Given the description of an element on the screen output the (x, y) to click on. 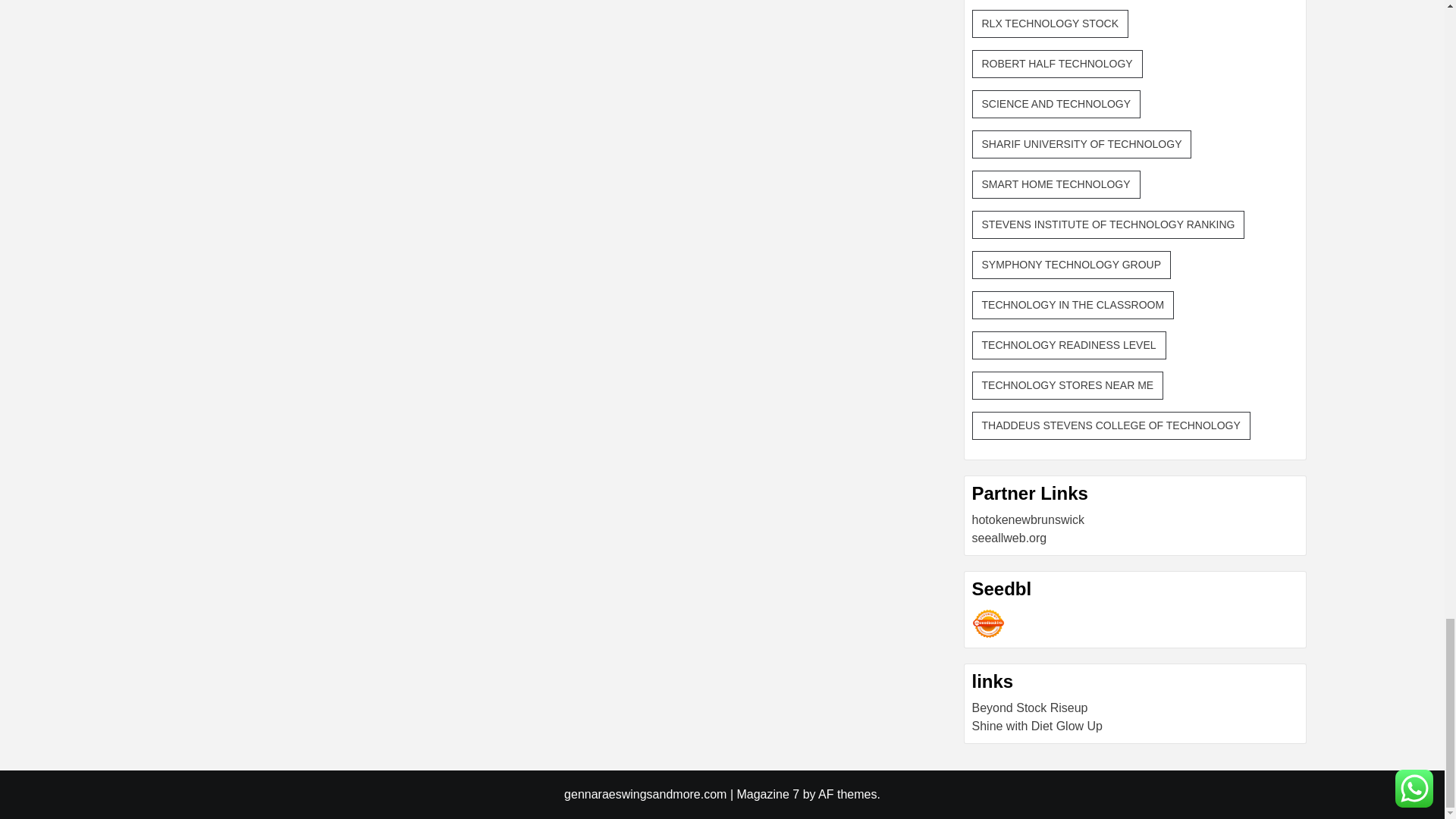
Seedbacklink (988, 623)
